Given the description of an element on the screen output the (x, y) to click on. 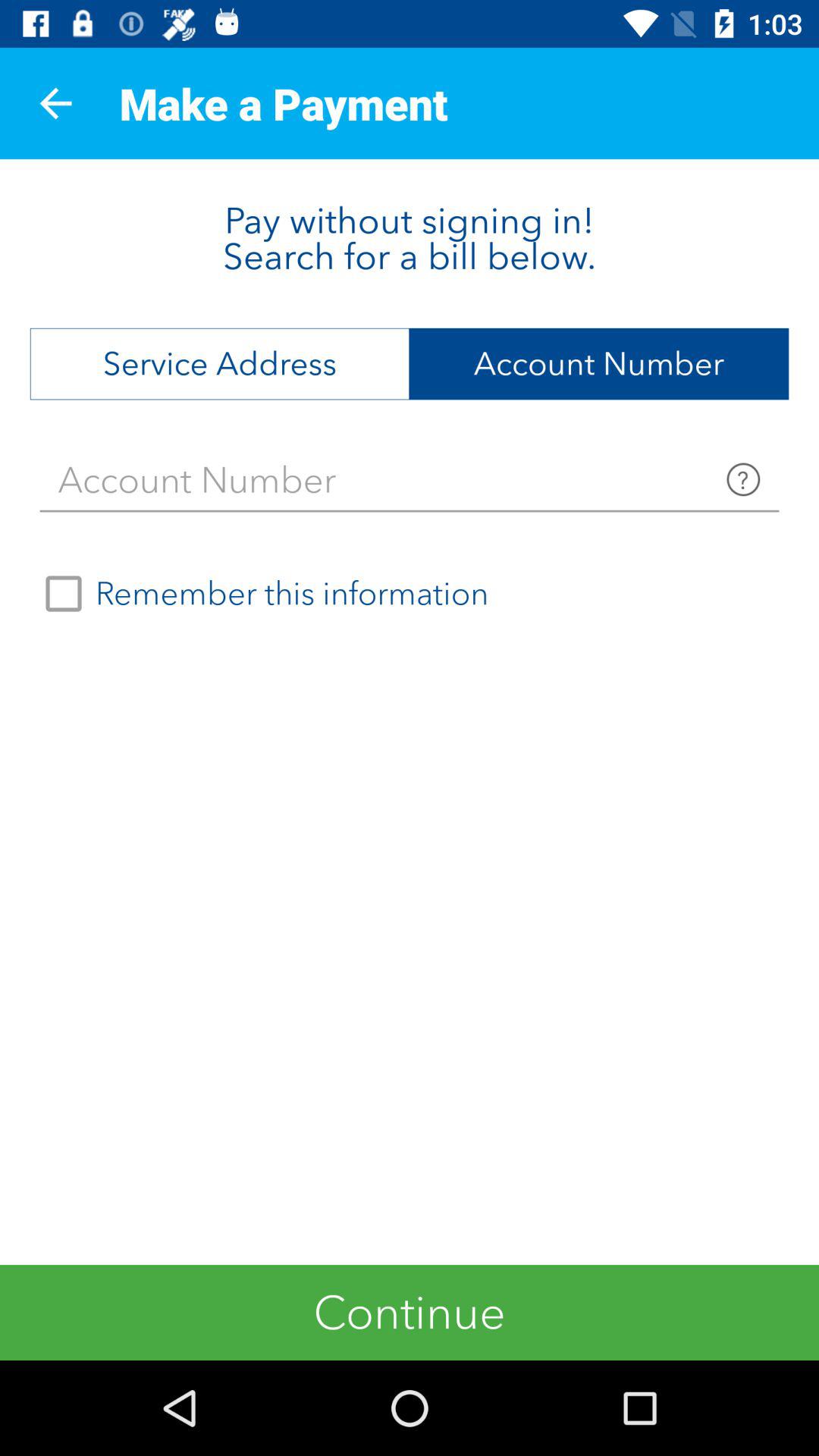
press the icon to the left of the make a payment item (55, 103)
